Given the description of an element on the screen output the (x, y) to click on. 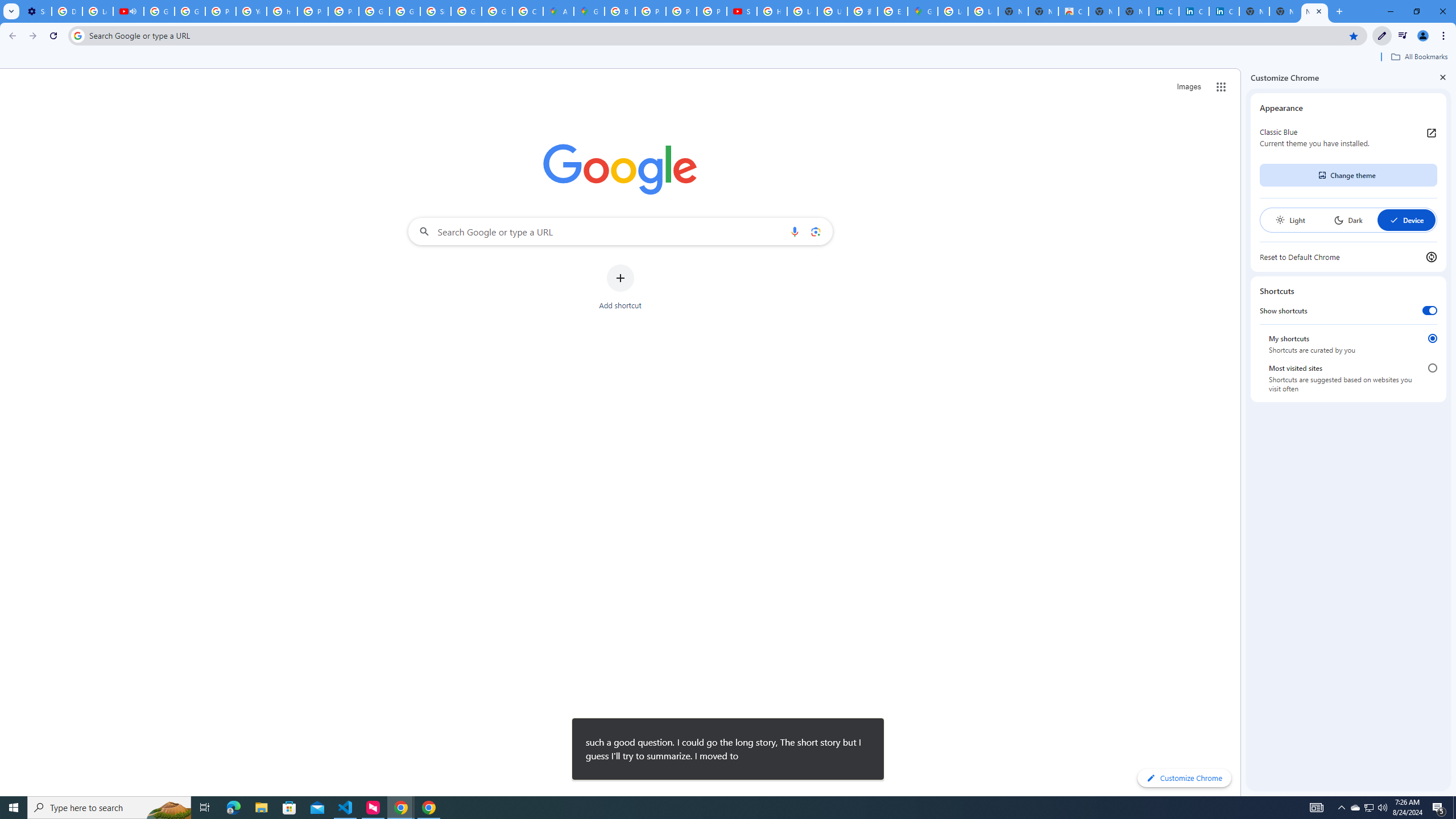
My shortcuts (1432, 338)
YouTube (251, 11)
Search by voice (794, 230)
Settings - Customize profile (36, 11)
Reset to Default Chrome (1347, 256)
Side Panel Resize Handle (1242, 431)
Customize Chrome (1382, 35)
Google Account Help (158, 11)
